Given the description of an element on the screen output the (x, y) to click on. 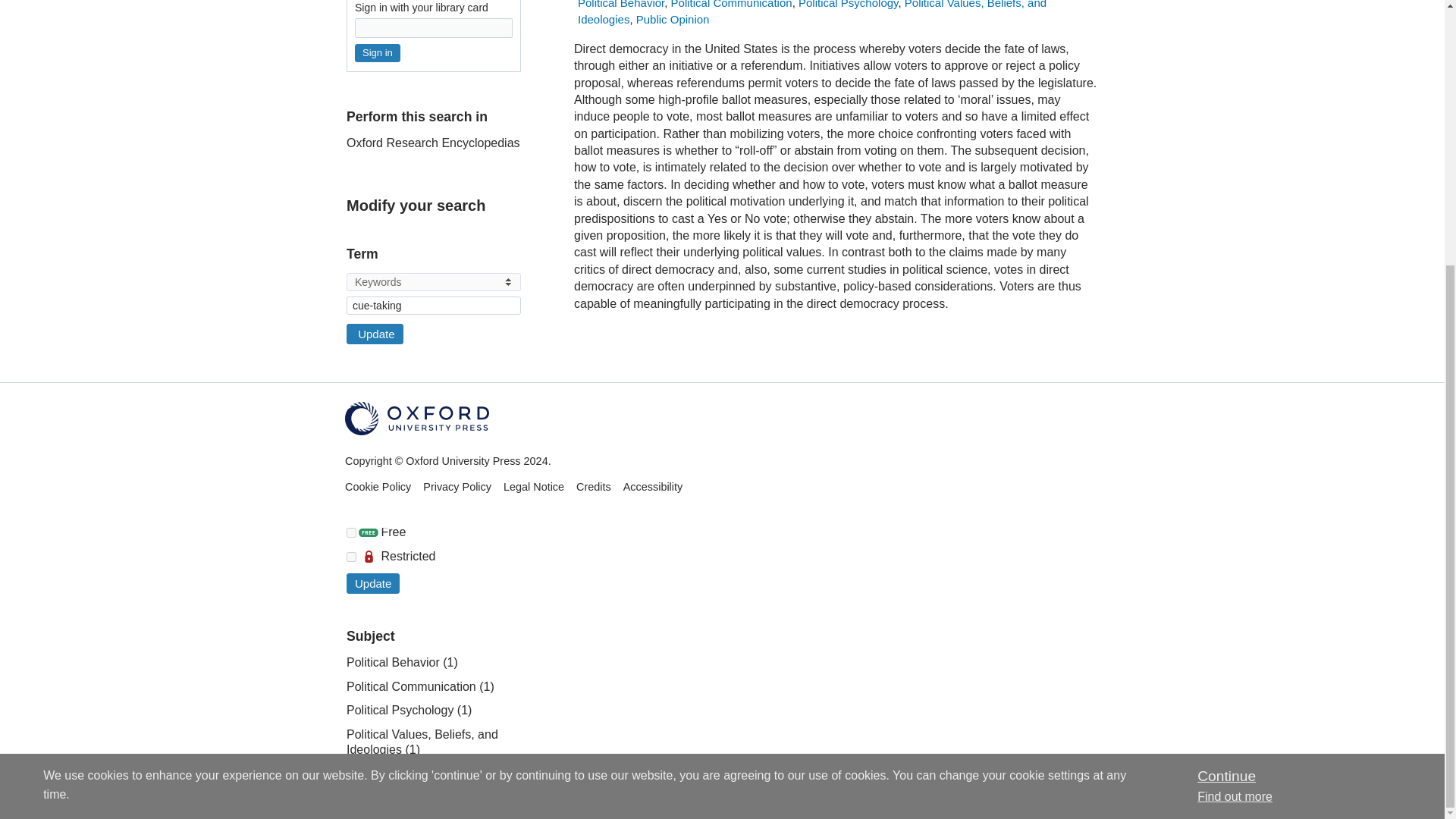
locked (351, 556)
Close this message (1225, 392)
Find out more (1234, 413)
How we use cookies on this site (1234, 413)
cue-taking (433, 305)
 Update (374, 333)
Subject Reference (351, 426)
Sign in (377, 52)
free (351, 532)
Continue (1225, 392)
